Given the description of an element on the screen output the (x, y) to click on. 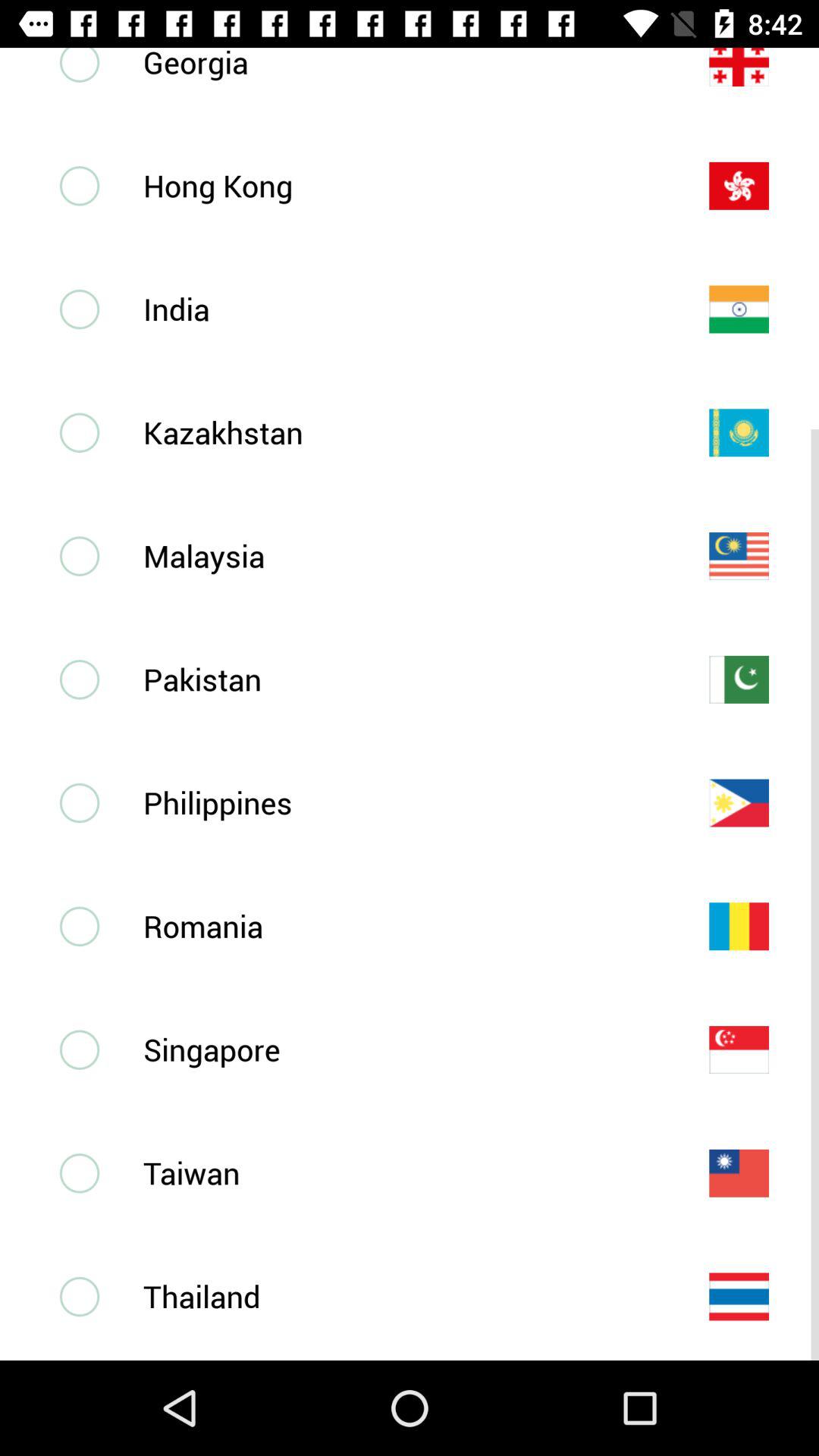
press the malaysia icon (401, 555)
